Given the description of an element on the screen output the (x, y) to click on. 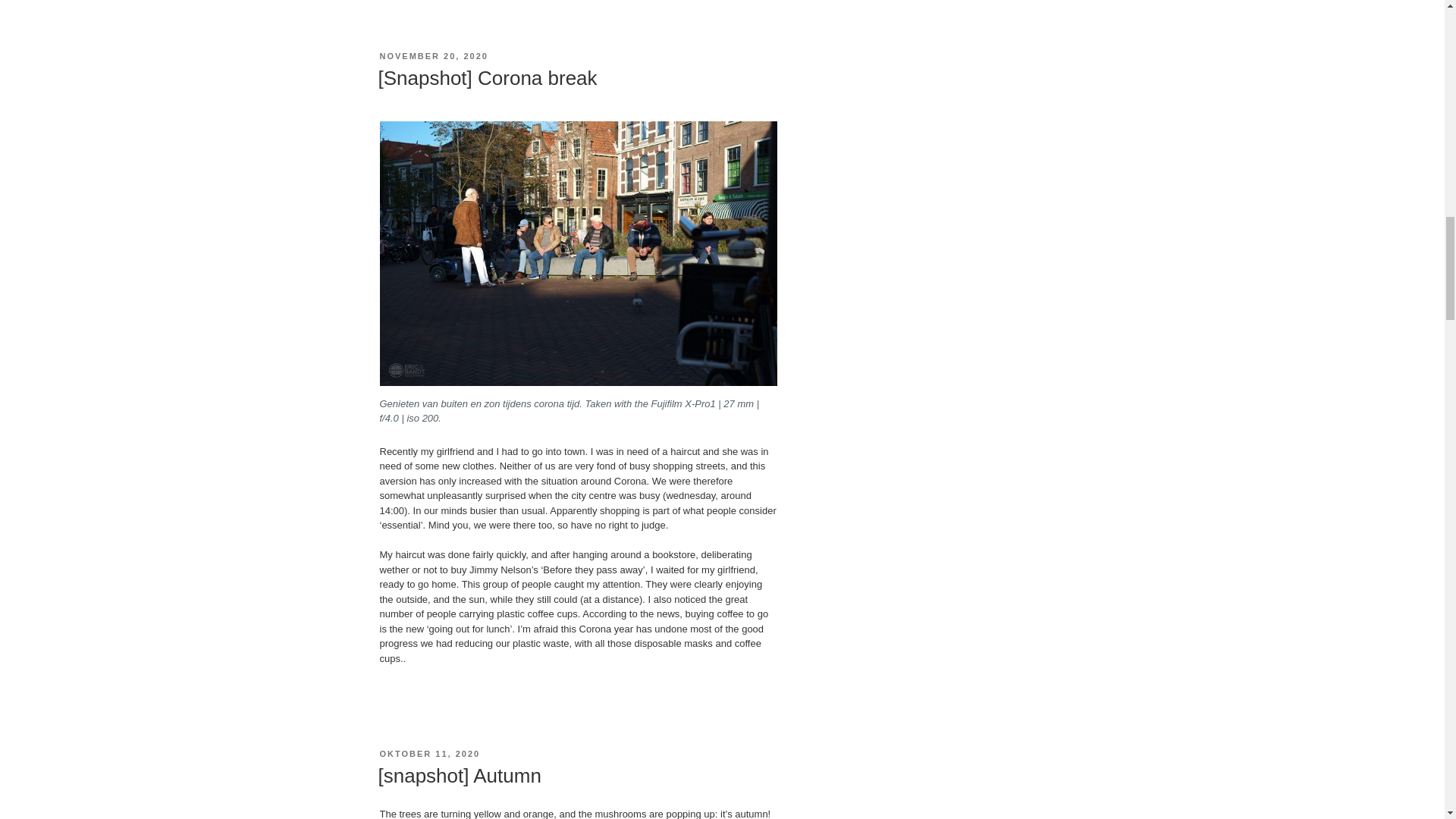
OKTOBER 11, 2020 (429, 753)
NOVEMBER 20, 2020 (432, 55)
